Given the description of an element on the screen output the (x, y) to click on. 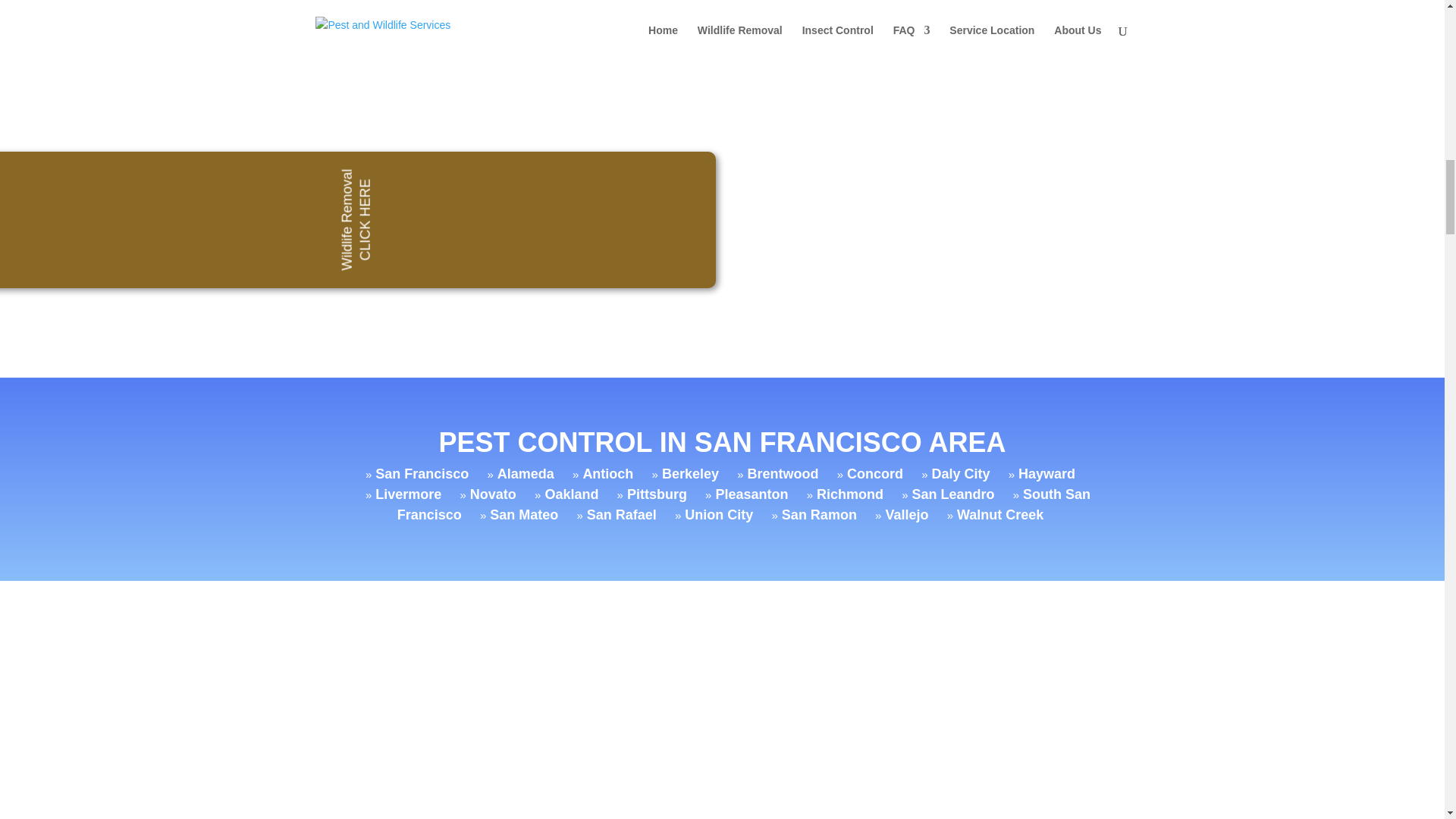
Alameda (525, 473)
San Mateo (523, 514)
Hayward (1046, 473)
Novato (493, 494)
Vallejo (906, 514)
San Francisco (421, 473)
Oakland (571, 494)
Union City (718, 514)
Daly City (960, 473)
San Ramon (819, 514)
Livermore (408, 494)
Brentwood (782, 473)
South San Francisco (743, 504)
Richmond (849, 494)
San Leandro (952, 494)
